Given the description of an element on the screen output the (x, y) to click on. 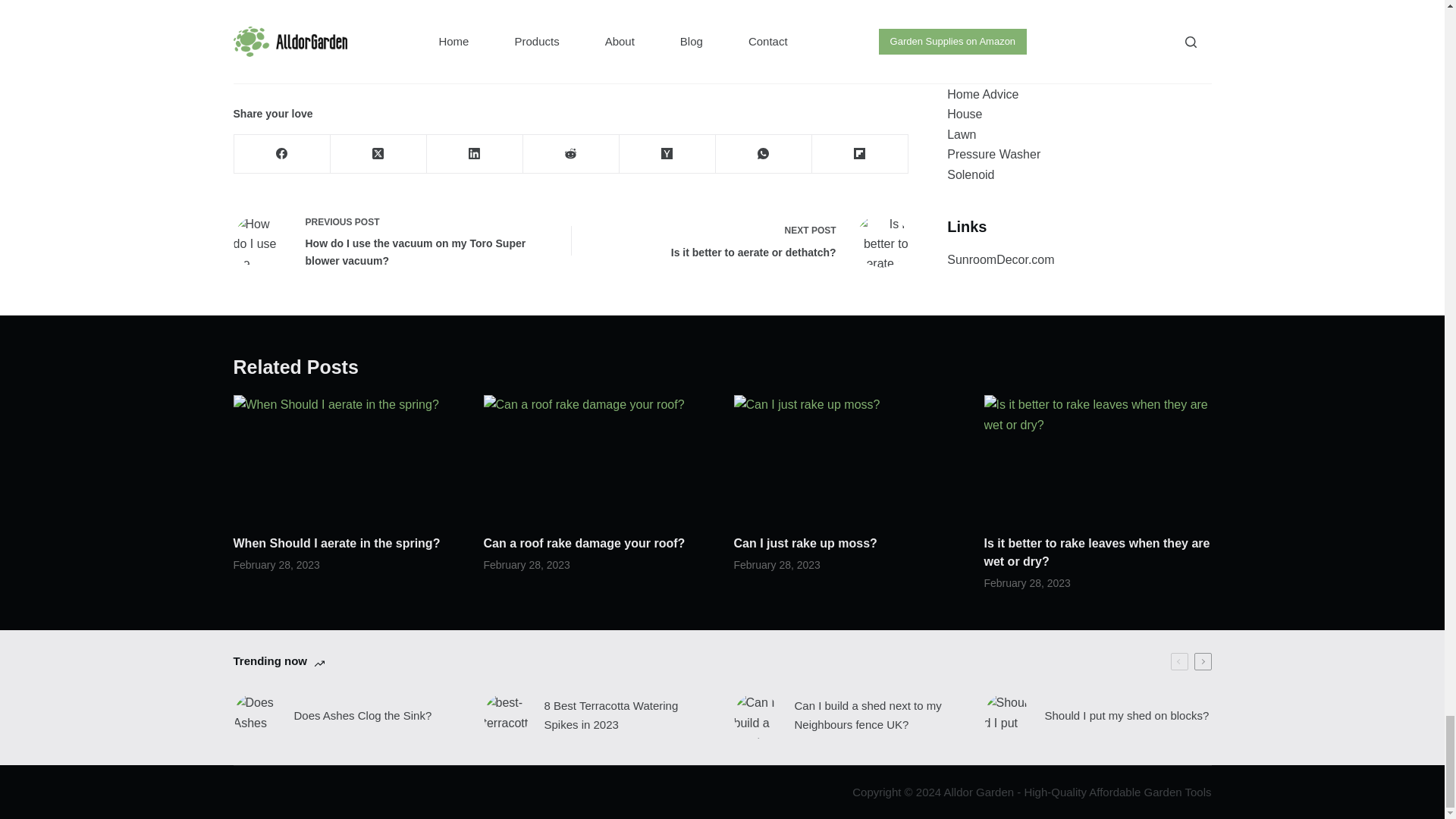
How do I use the vacuum on my Toro Super blower vacuum? (259, 240)
Is it better to aerate or dethatch? (882, 240)
